Given the description of an element on the screen output the (x, y) to click on. 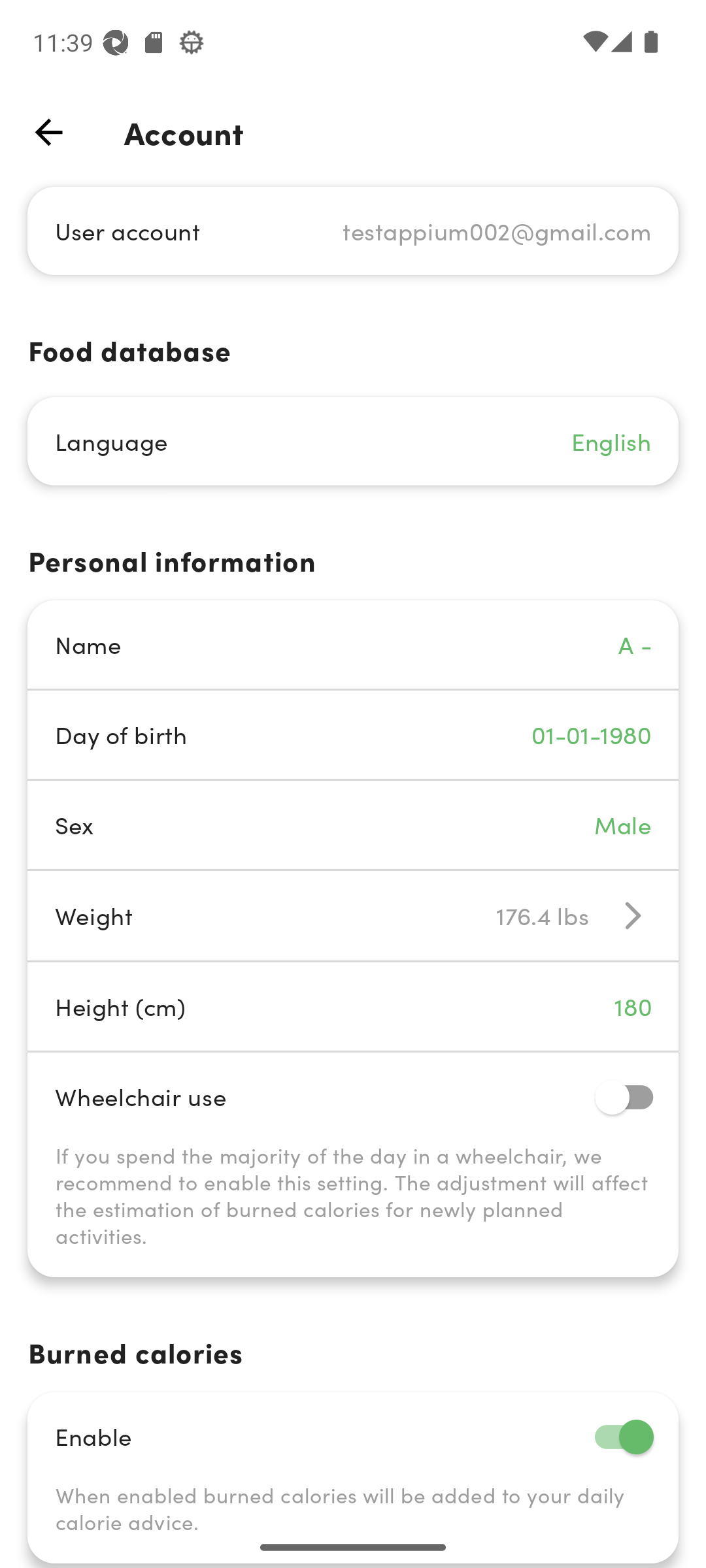
top_left_action (48, 132)
User account testappium002@gmail.com (352, 230)
Language English (352, 441)
Name A - (352, 644)
Day of birth 01-01-1980 (352, 734)
Sex Male (352, 824)
Weight 176.4 lbs (352, 914)
Height (cm) 180 (352, 1006)
Wheelchair use (352, 1096)
Enable (352, 1436)
